Given the description of an element on the screen output the (x, y) to click on. 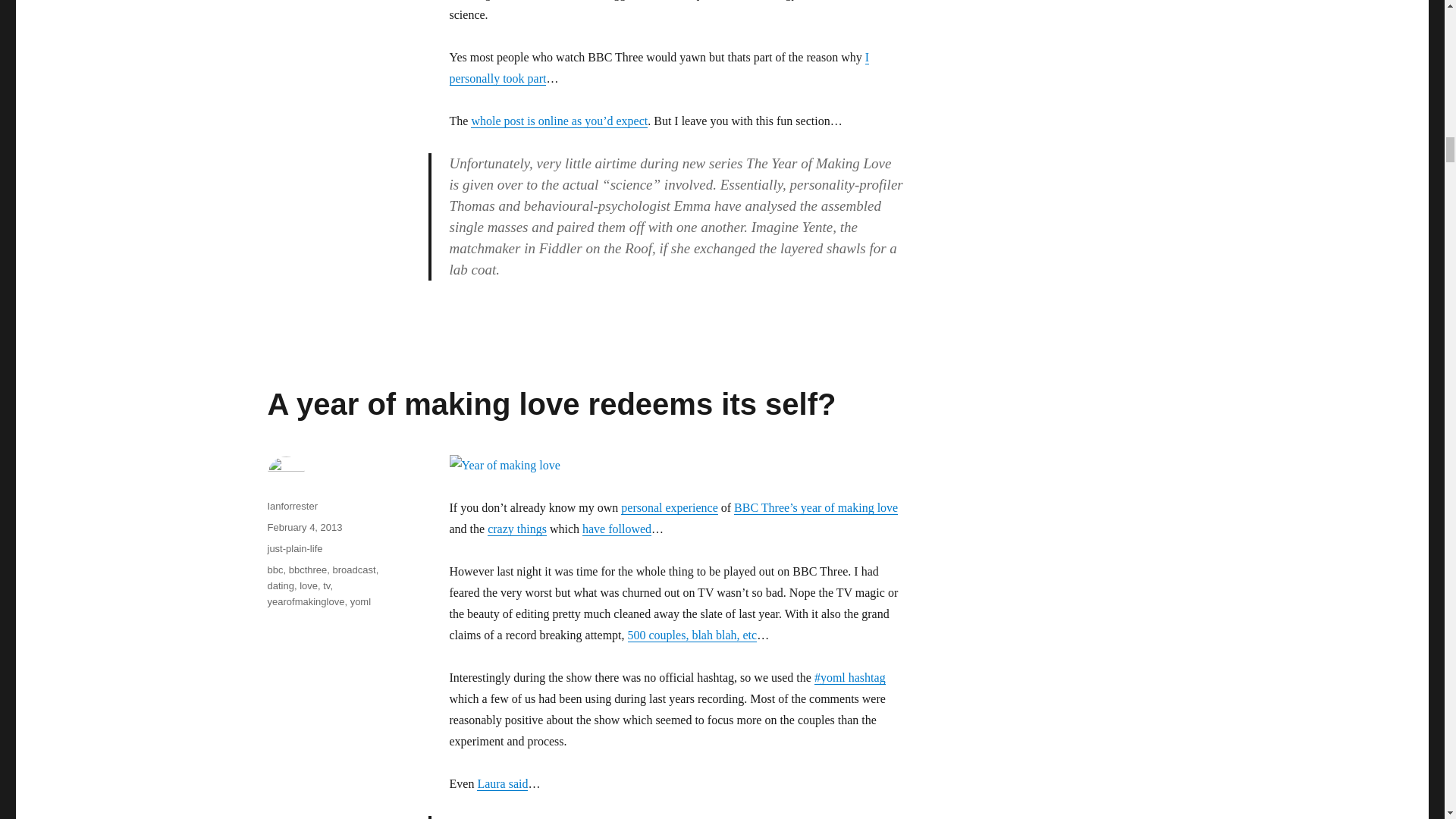
A year of making love and where it went wrong (669, 507)
Official apology from Fevermedia for Year of making love (517, 528)
